Given the description of an element on the screen output the (x, y) to click on. 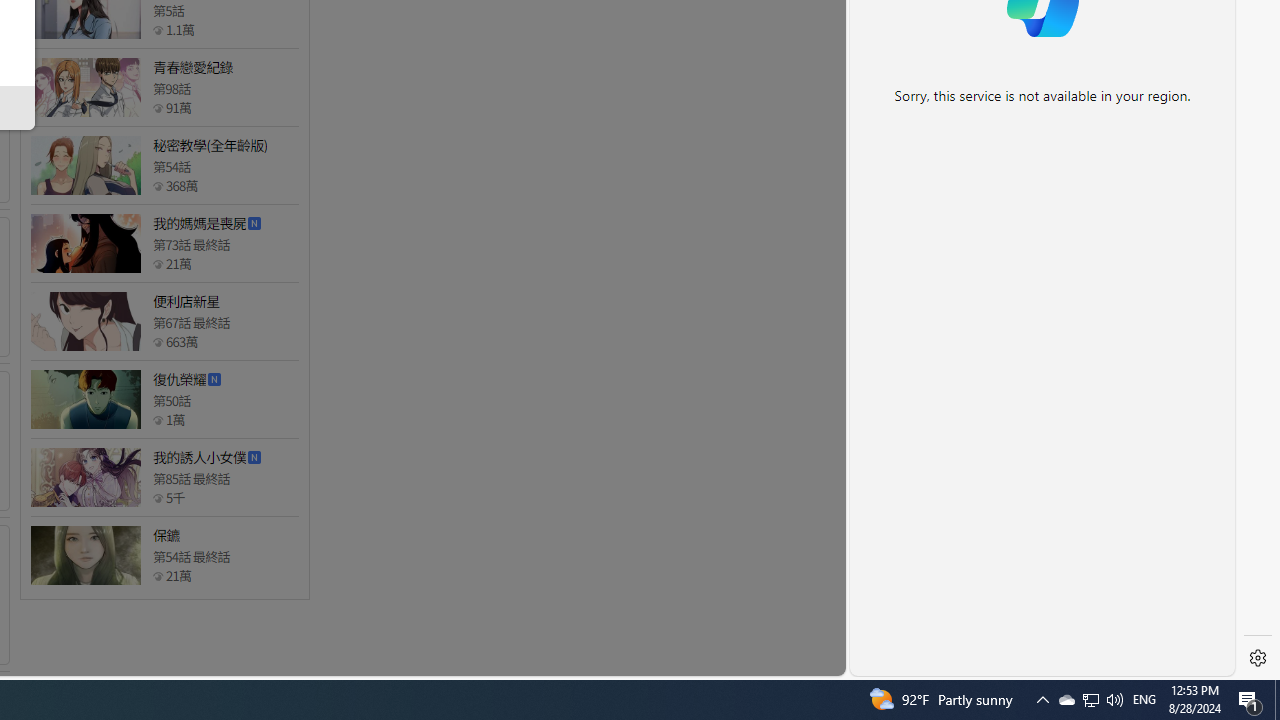
Settings (1258, 658)
Class: thumb_img (85, 555)
Class: epicon_starpoint (158, 575)
